Given the description of an element on the screen output the (x, y) to click on. 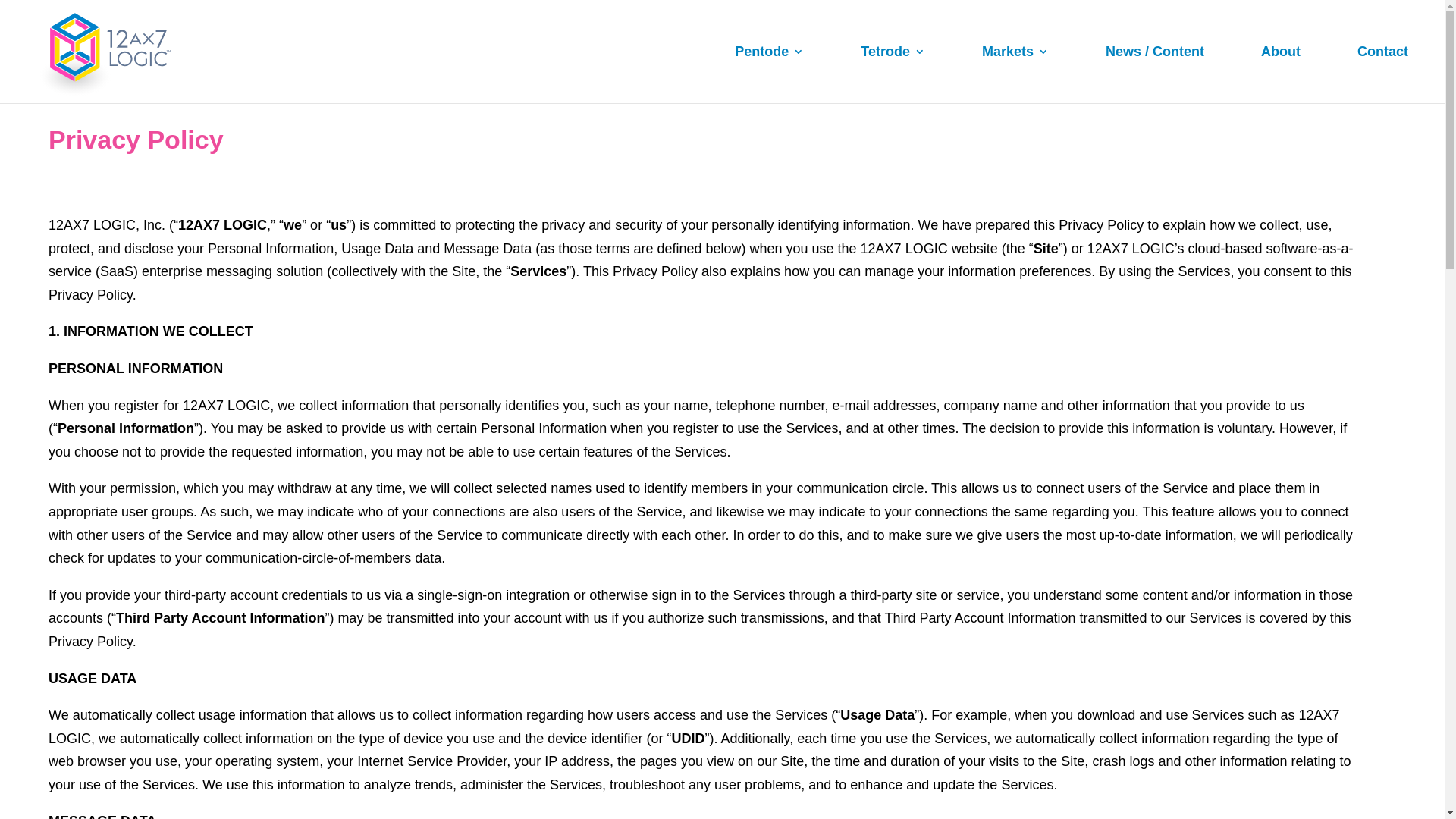
Pentode Element type: text (768, 74)
News / Content Element type: text (1154, 74)
About Element type: text (1280, 74)
Tetrode Element type: text (892, 74)
Markets Element type: text (1015, 74)
Contact Element type: text (1382, 74)
